Given the description of an element on the screen output the (x, y) to click on. 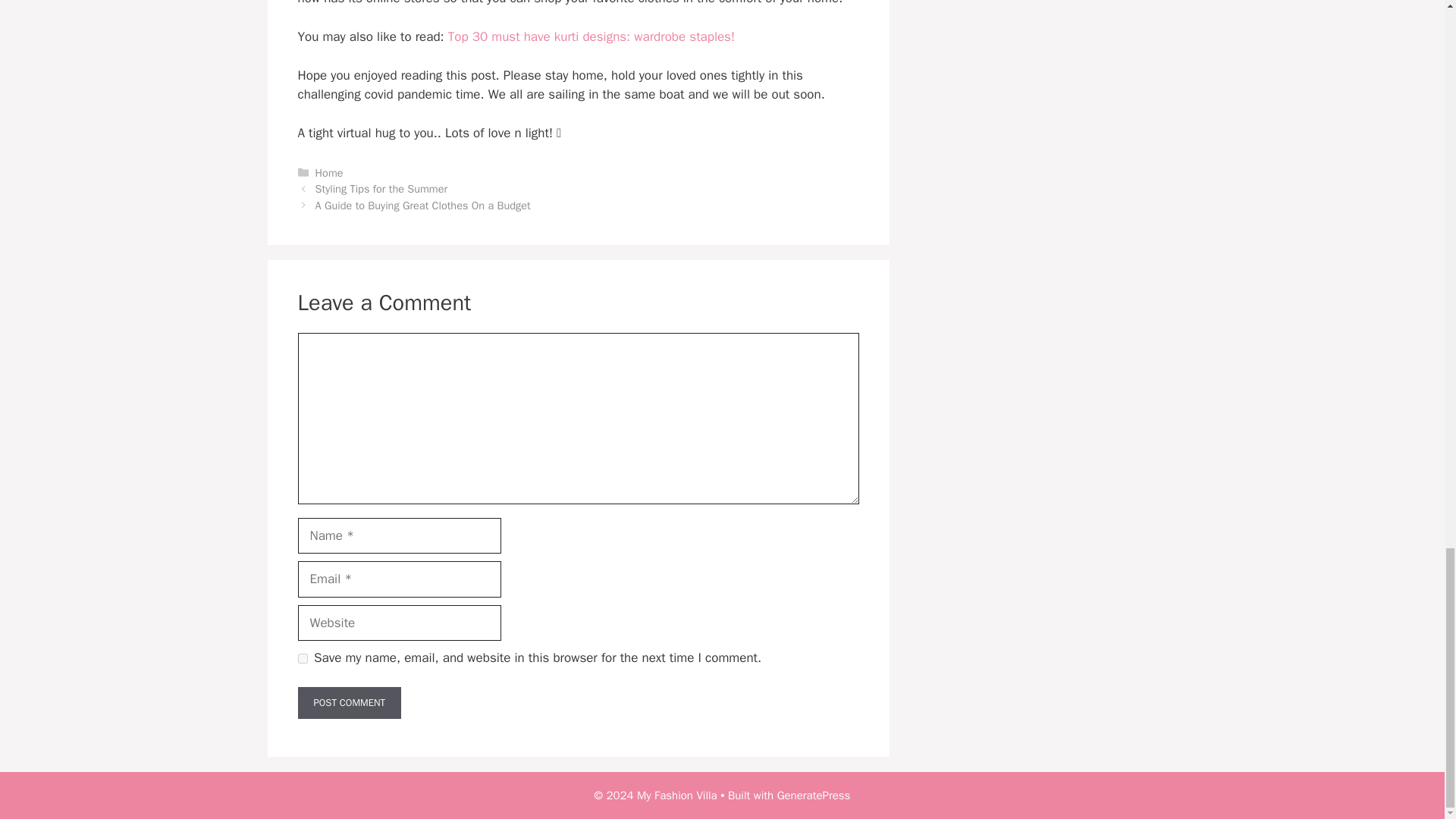
Top 30 must have kurti designs: wardrobe staples! (591, 36)
yes (302, 658)
Home (329, 172)
A Guide to Buying Great Clothes On a Budget (423, 205)
Post Comment (349, 703)
Styling Tips for the Summer (380, 188)
Post Comment (349, 703)
